Given the description of an element on the screen output the (x, y) to click on. 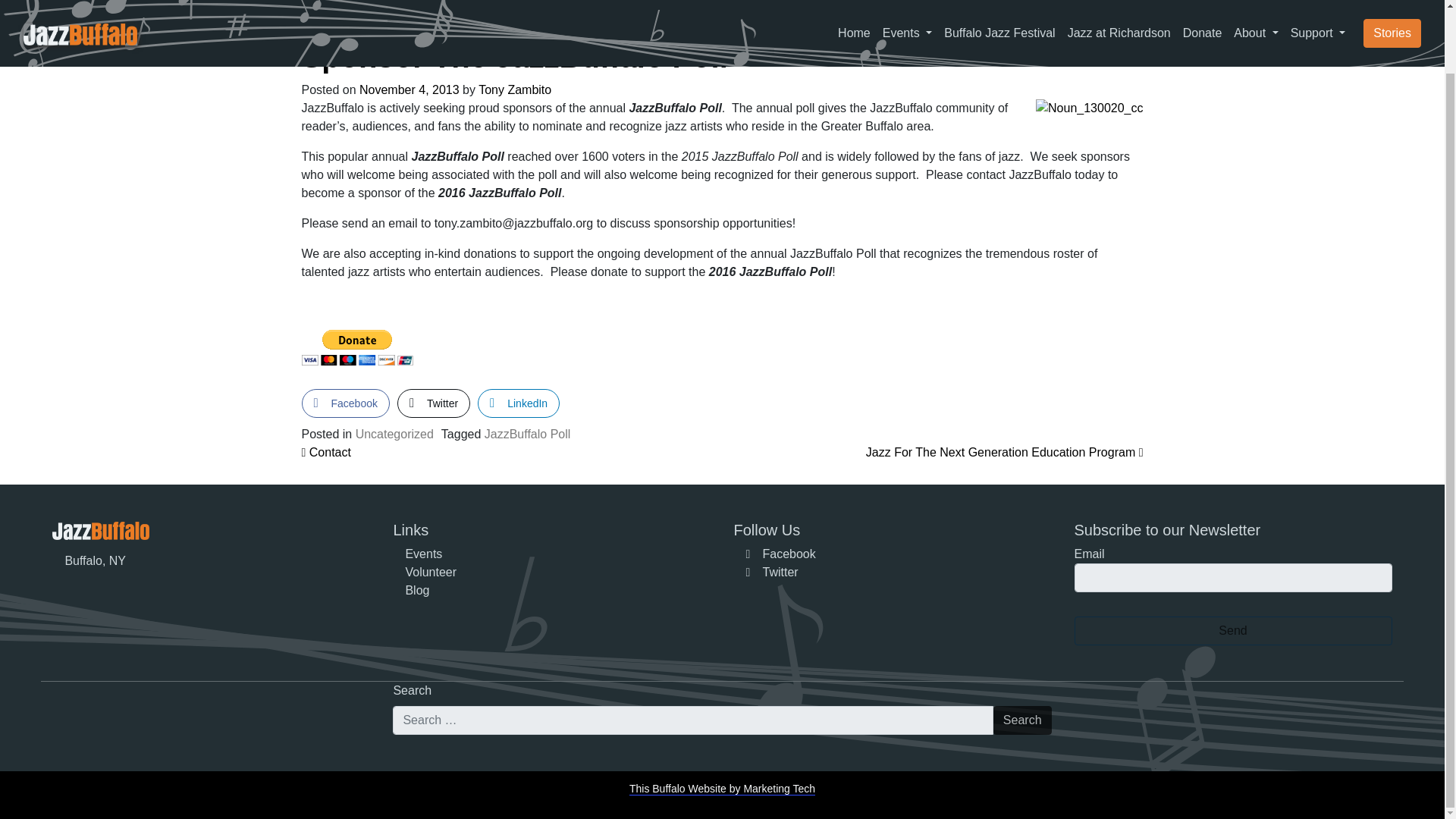
Send (1232, 630)
Twitter (433, 403)
Send (1232, 630)
Events (423, 553)
Facebook (780, 553)
Jazz For The Next Generation Education Program  (1004, 451)
This Buffalo Website by Marketing Tech (721, 788)
Twitter (771, 571)
JazzBuffalo Poll (527, 433)
LinkedIn (518, 403)
 Contact (325, 451)
Tony Zambito (515, 89)
Search (1021, 719)
Blog (416, 590)
Search (1021, 719)
